Given the description of an element on the screen output the (x, y) to click on. 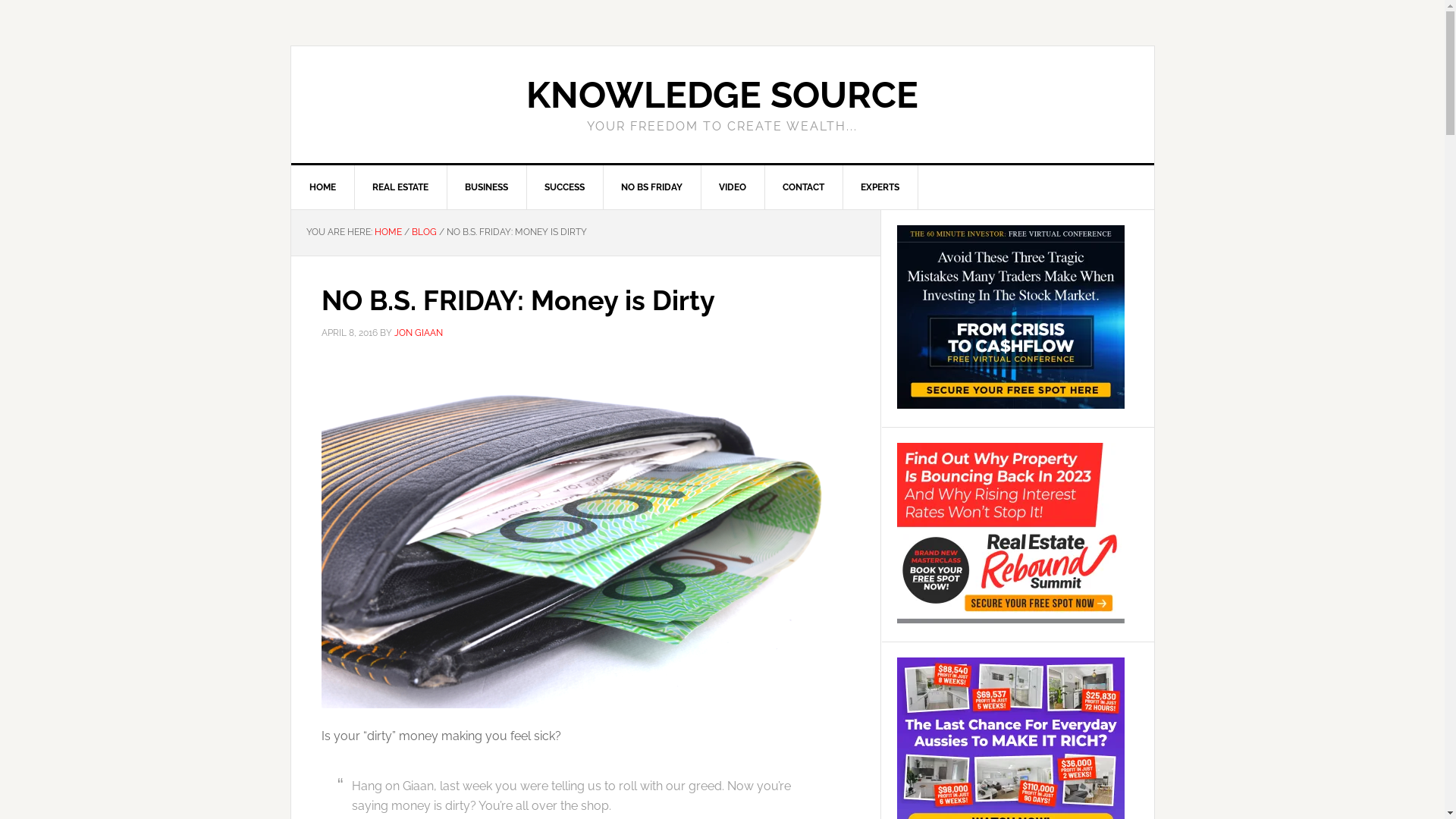
KNOWLEDGE SOURCE Element type: text (722, 94)
HOME Element type: text (322, 187)
HOME Element type: text (387, 231)
BLOG Element type: text (423, 231)
BUSINESS Element type: text (485, 187)
SUCCESS Element type: text (564, 187)
JON GIAAN Element type: text (418, 332)
NO BS FRIDAY Element type: text (651, 187)
REAL ESTATE Element type: text (399, 187)
CONTACT Element type: text (803, 187)
EXPERTS Element type: text (879, 187)
VIDEO Element type: text (732, 187)
